Given the description of an element on the screen output the (x, y) to click on. 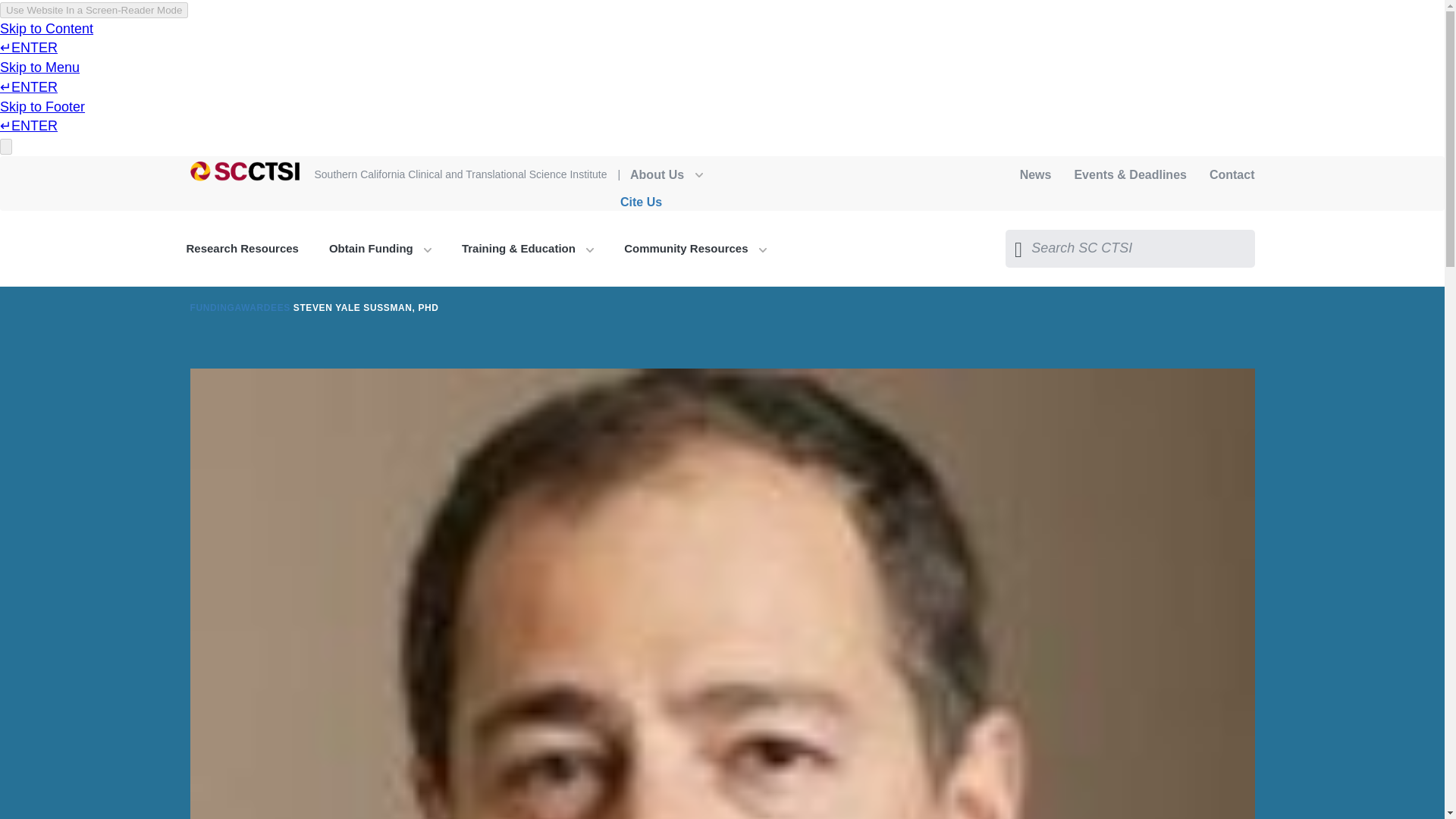
Cite Us (641, 201)
Contact (1232, 175)
News (1035, 175)
